Given the description of an element on the screen output the (x, y) to click on. 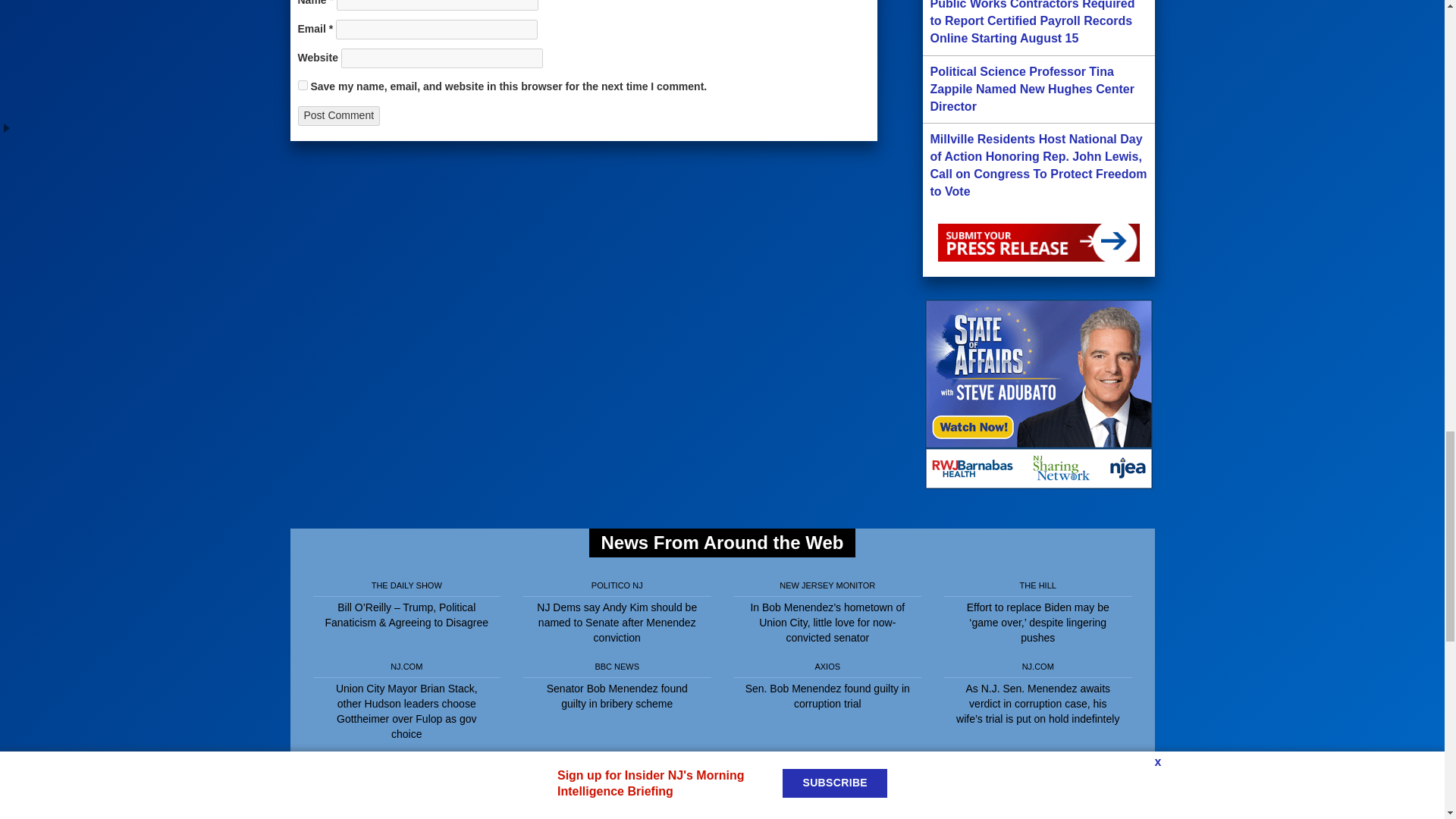
yes (302, 85)
Post Comment (338, 116)
Post Comment (338, 116)
